Given the description of an element on the screen output the (x, y) to click on. 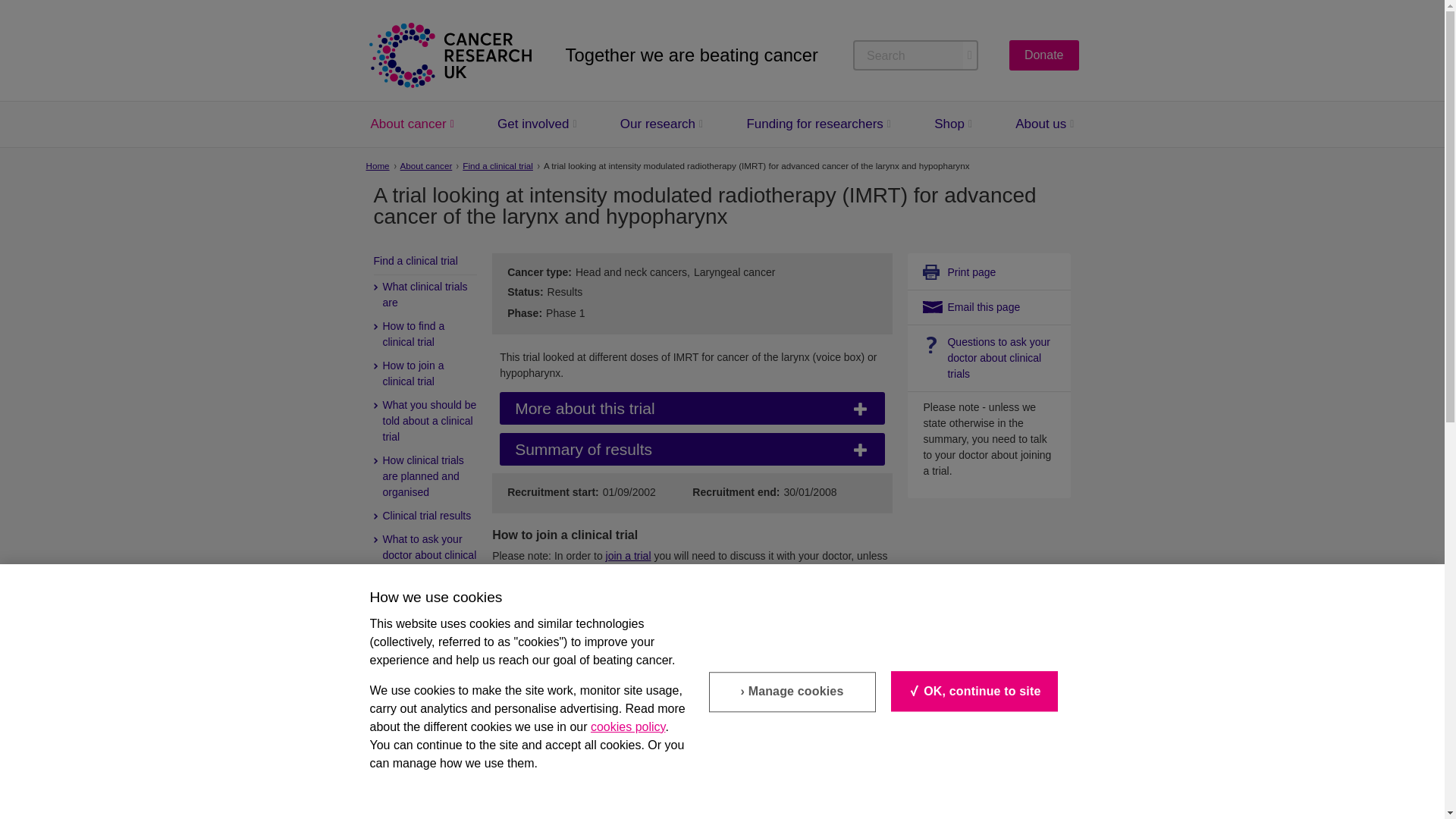
Cancer Research UK Homepage (449, 54)
Donate (1043, 55)
About cancer (407, 124)
Get involved (533, 124)
